Given the description of an element on the screen output the (x, y) to click on. 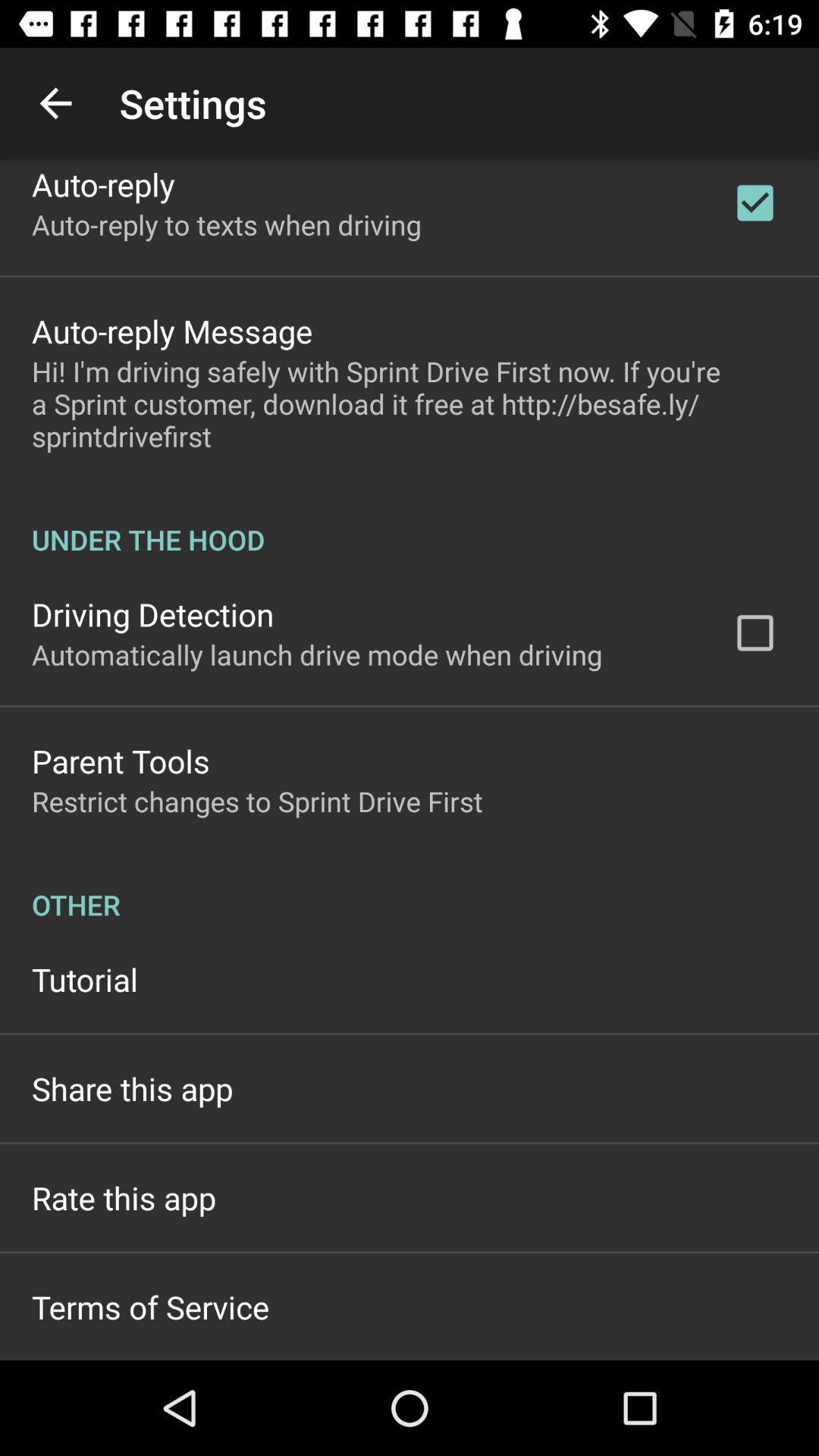
launch the icon above share this app (84, 979)
